Given the description of an element on the screen output the (x, y) to click on. 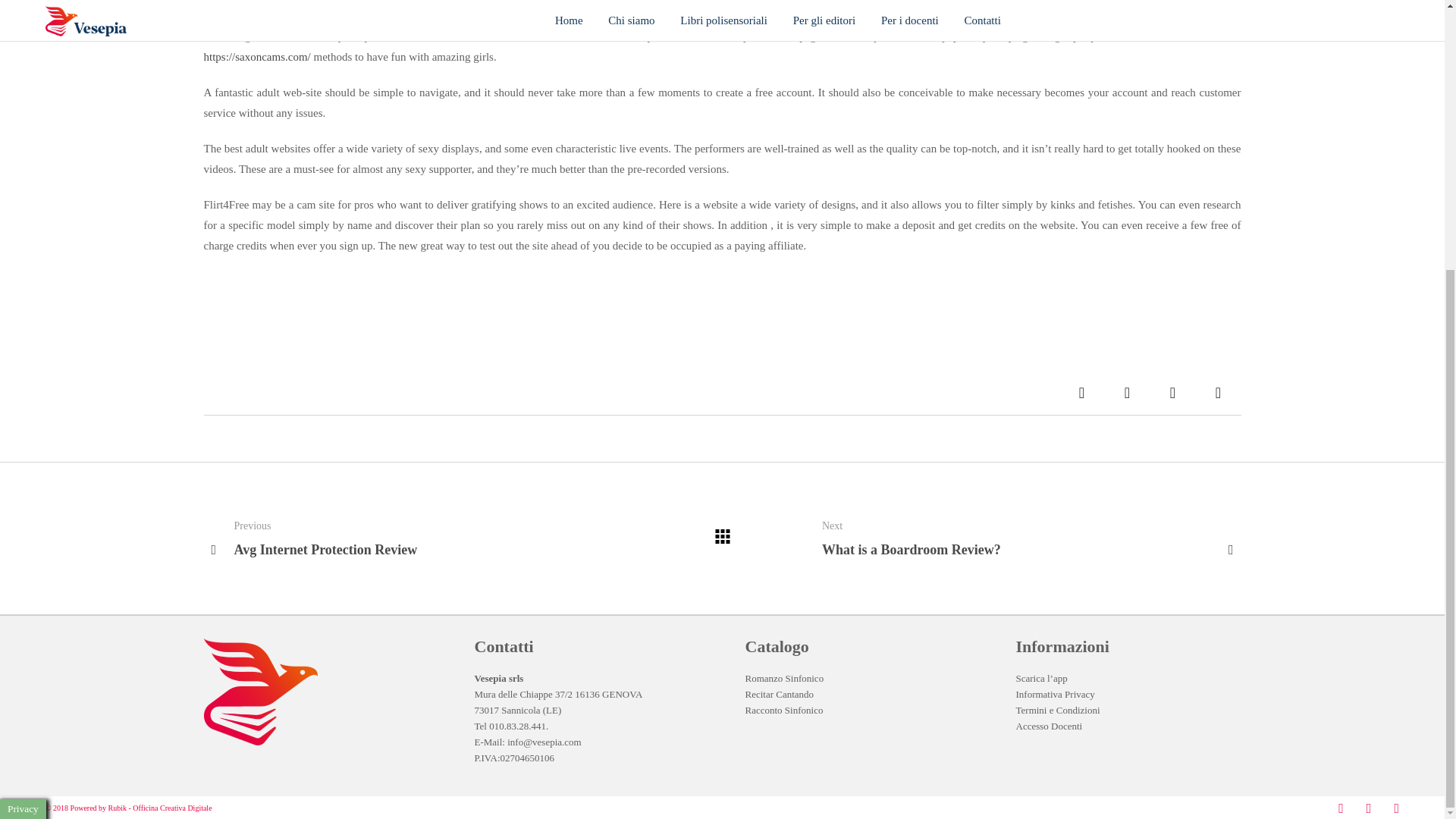
Termini e Condizioni (1031, 538)
Pin this. (1058, 710)
Informativa Privacy (1217, 392)
Racconto Sinfonico (1055, 694)
Share this. (783, 710)
Accesso Docenti (1080, 392)
Rubik - Officina Creativa Digitale (1049, 726)
Tweet this. (159, 807)
Romanzo Sinfonico (1126, 392)
Recitar Cantando (784, 678)
Share this. (778, 694)
